Given the description of an element on the screen output the (x, y) to click on. 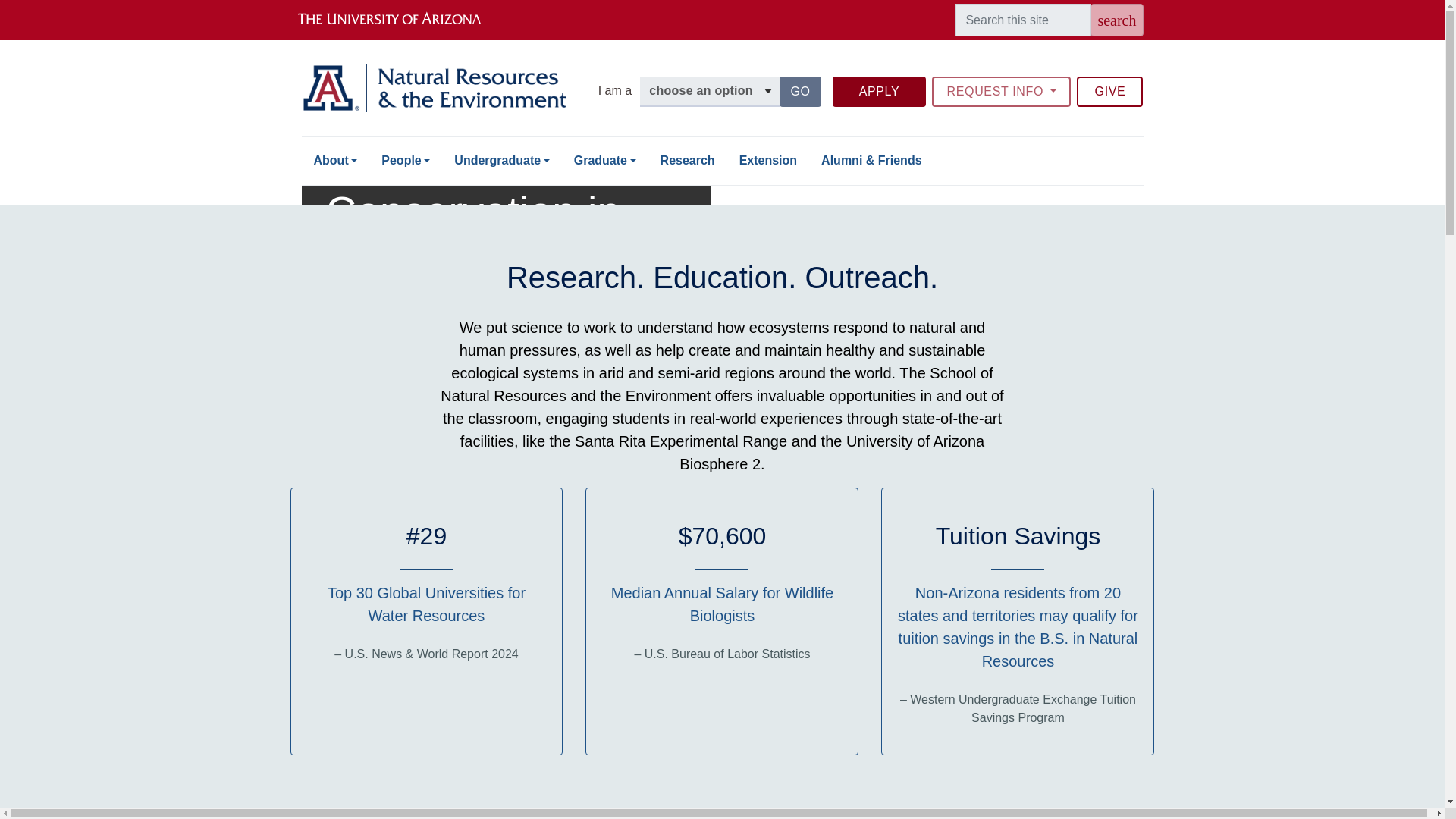
APPLY (879, 91)
Graduate (604, 160)
About (335, 160)
Enter the terms you wish to search for. (1022, 20)
The University of Arizona homepage (401, 20)
search (1116, 20)
Undergraduate (501, 160)
GIVE (799, 91)
Skip to main content (1109, 91)
People (721, 1)
REQUEST INFO (405, 160)
